Given the description of an element on the screen output the (x, y) to click on. 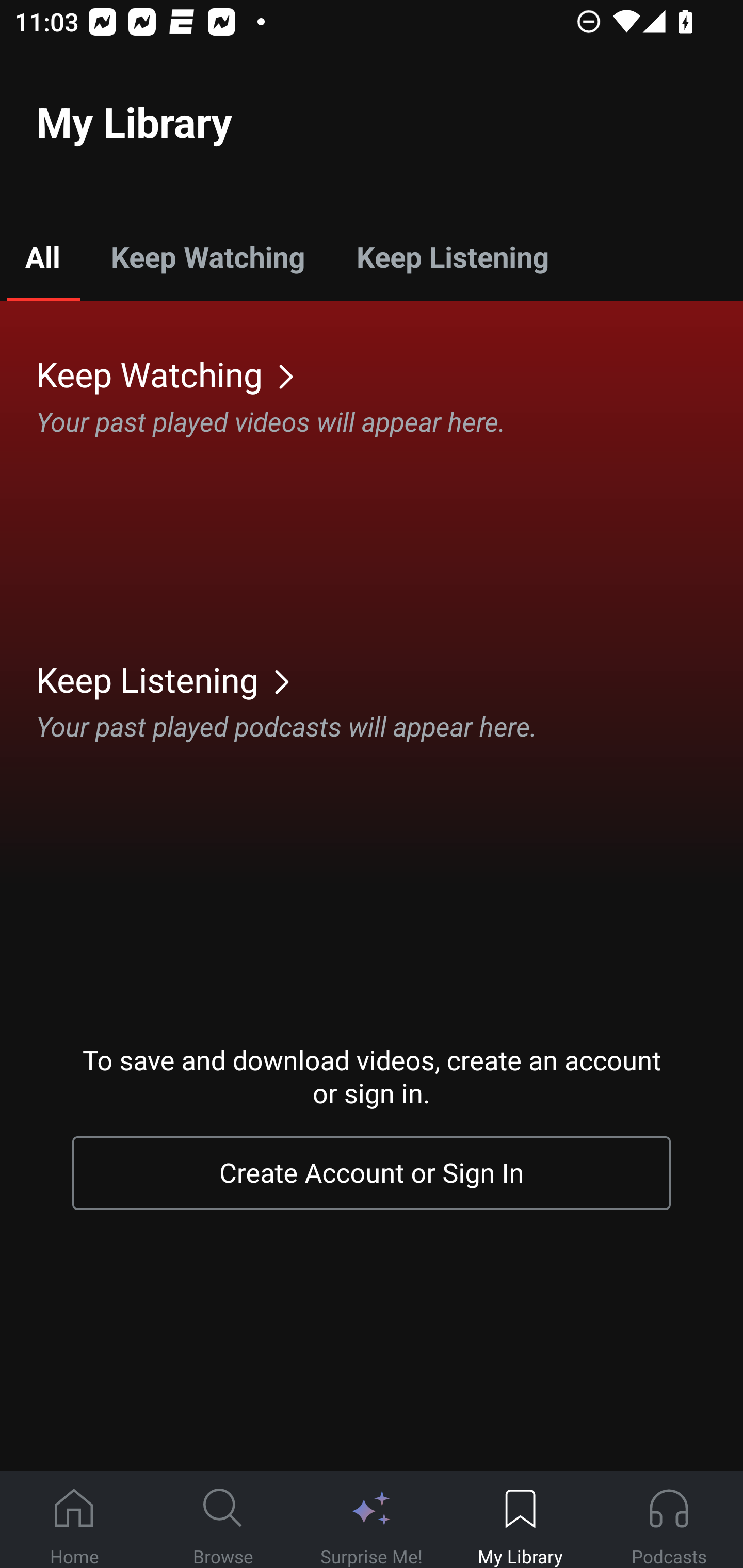
All (42, 256)
Keep Watching (207, 256)
Keep Listening (452, 256)
Keep Watching (389, 373)
Keep Listening (389, 679)
Create Account or Sign In (371, 1173)
Home (74, 1520)
Browse (222, 1520)
Surprise Me! (371, 1520)
My Library (519, 1520)
Podcasts (668, 1520)
